Given the description of an element on the screen output the (x, y) to click on. 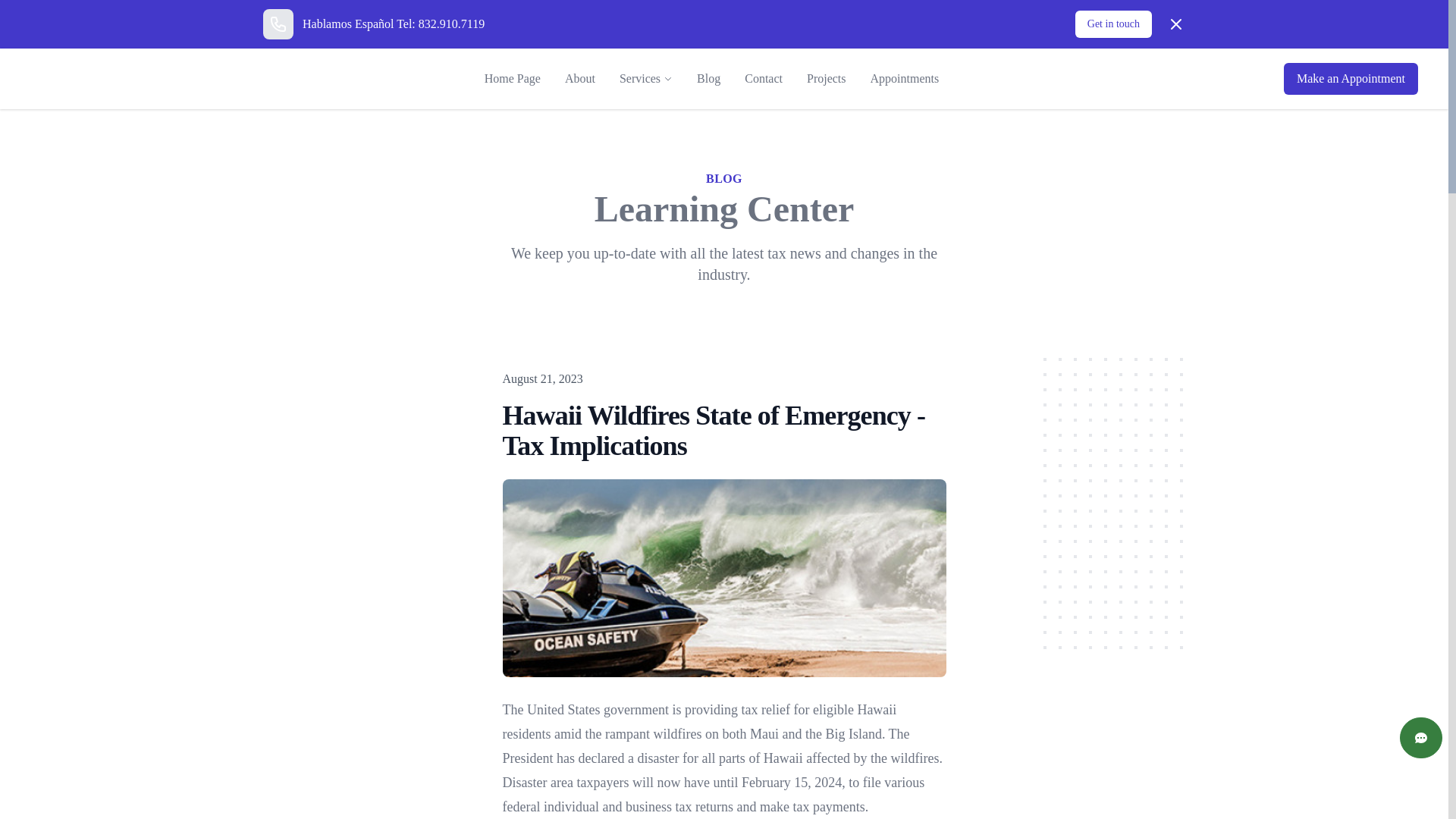
Make an Appointment (1351, 79)
Blog (708, 78)
Appointments (905, 78)
About (580, 78)
Projects (826, 78)
Appointments (905, 78)
Services (640, 78)
Contact (763, 78)
Get in touch (1113, 23)
Projects (826, 78)
Home Page (512, 78)
About (580, 78)
Dismiss (1175, 24)
Blog (708, 78)
Contact (763, 78)
